Given the description of an element on the screen output the (x, y) to click on. 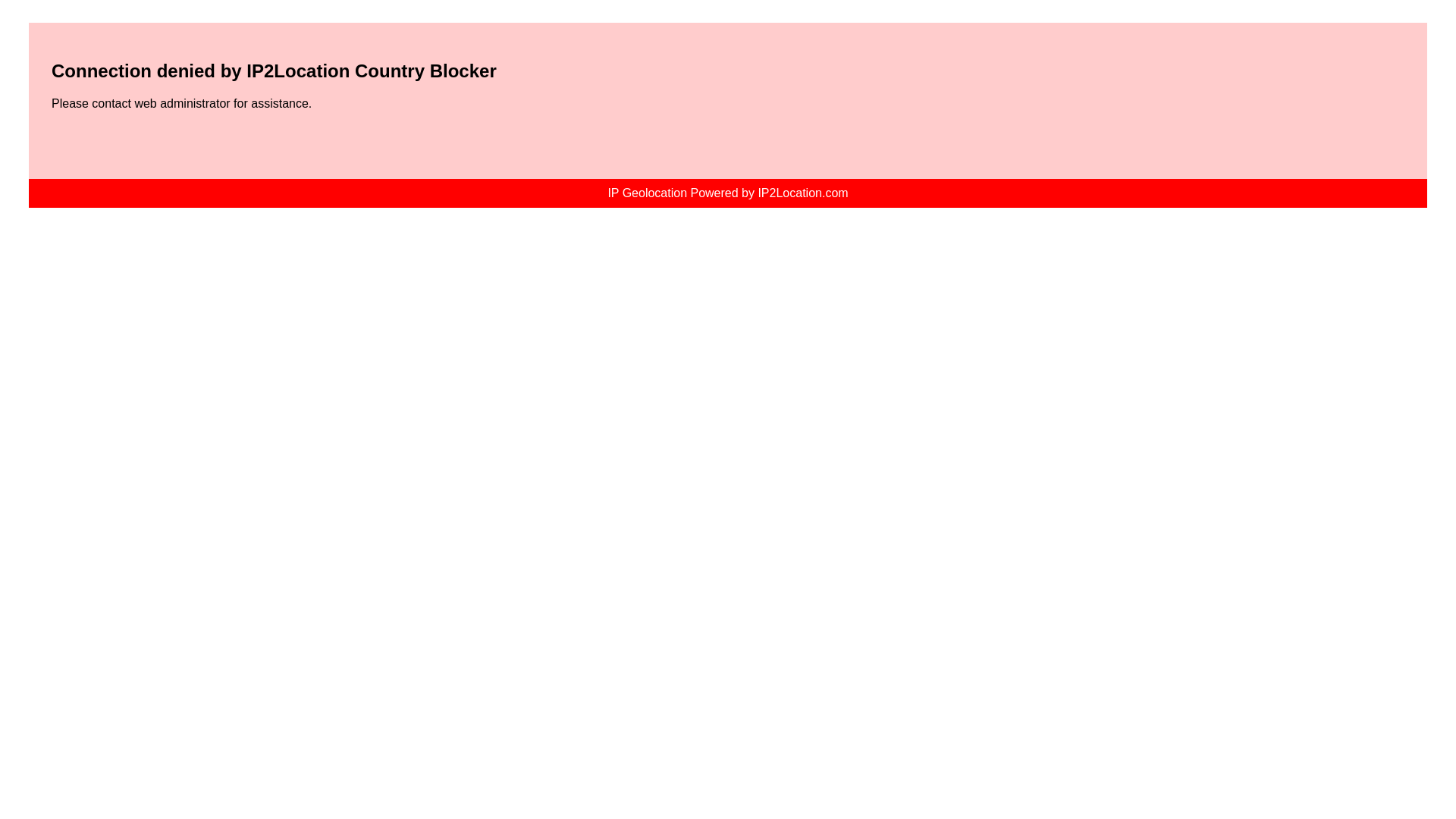
IP Geolocation Powered by IP2Location.com Element type: text (727, 192)
